Given the description of an element on the screen output the (x, y) to click on. 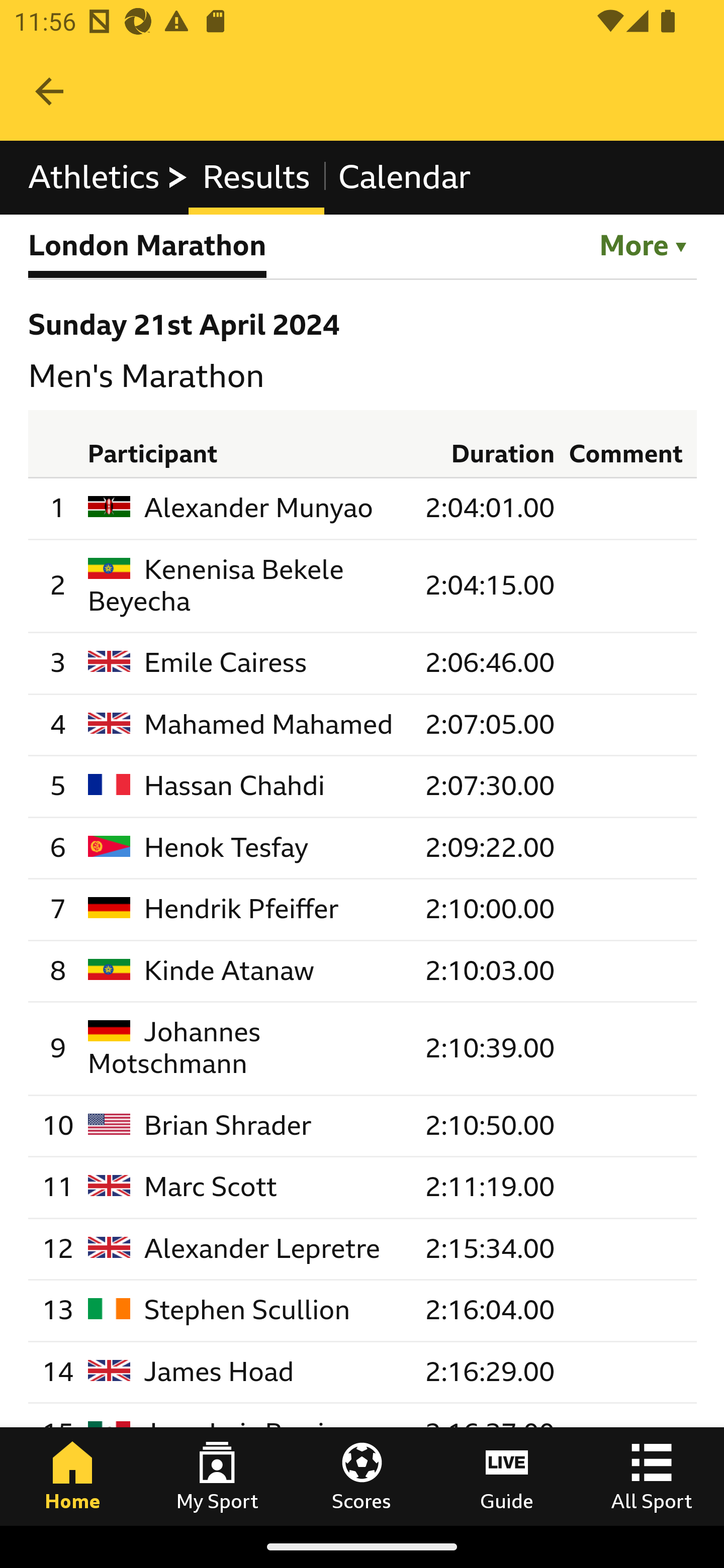
Navigate up (49, 91)
Athletics  (108, 177)
Results (255, 177)
Calendar (404, 177)
My Sport (216, 1475)
Scores (361, 1475)
Guide (506, 1475)
All Sport (651, 1475)
